Given the description of an element on the screen output the (x, y) to click on. 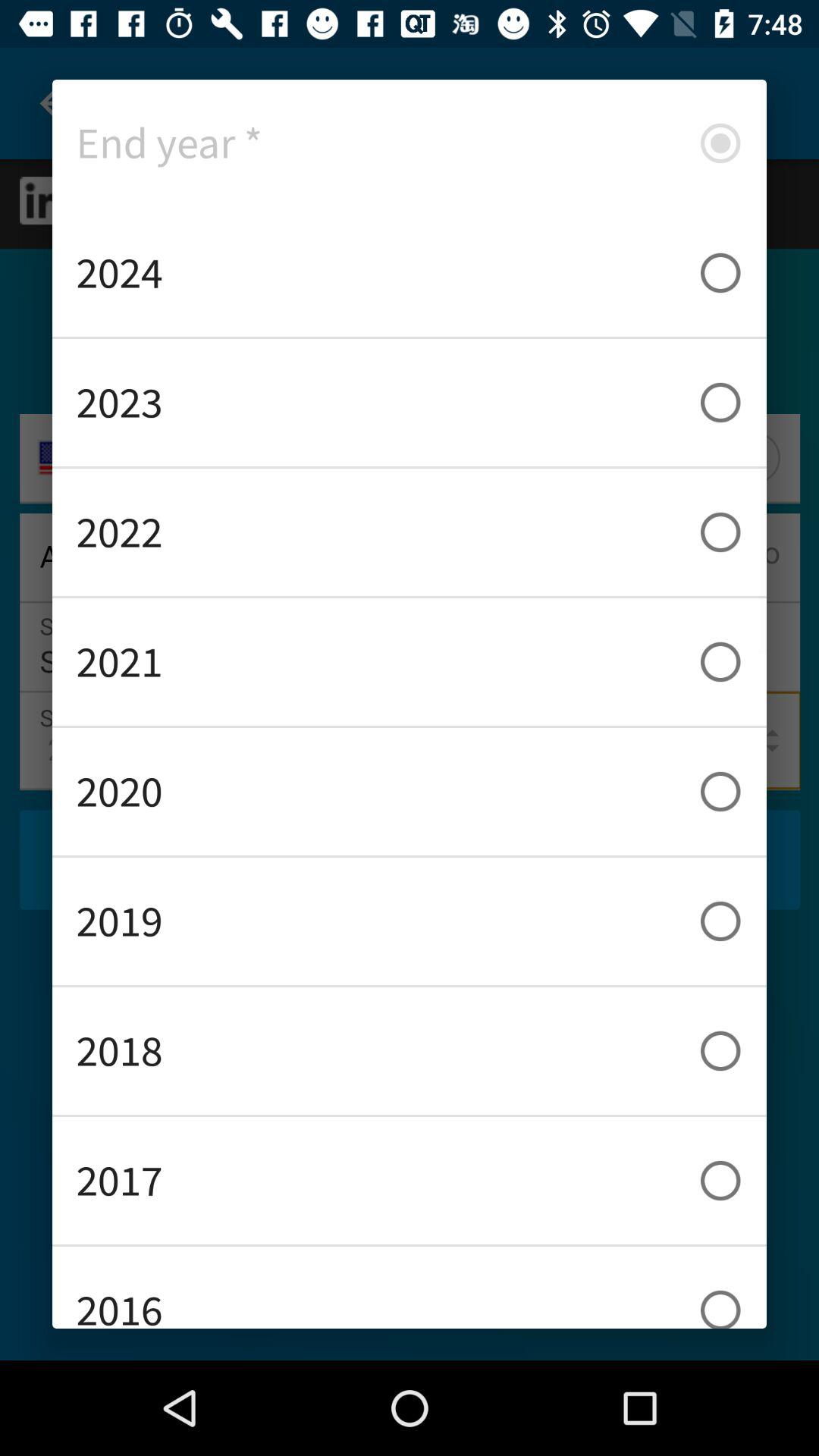
turn off icon below 2019 (409, 1050)
